Given the description of an element on the screen output the (x, y) to click on. 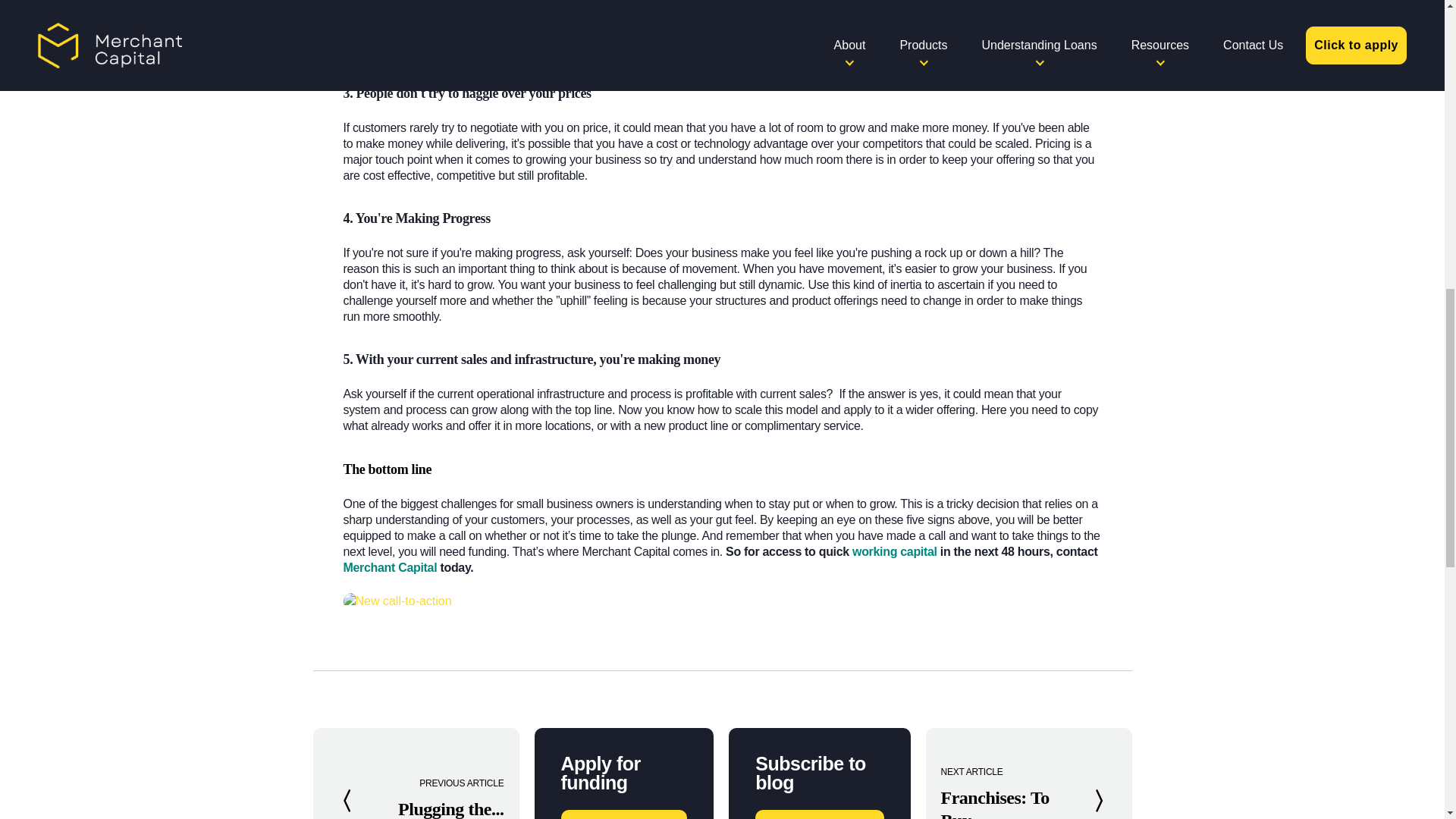
SUBSCRIBE (819, 814)
working capital (894, 551)
Merchant Capital (389, 567)
APPLY NOW (623, 814)
